Given the description of an element on the screen output the (x, y) to click on. 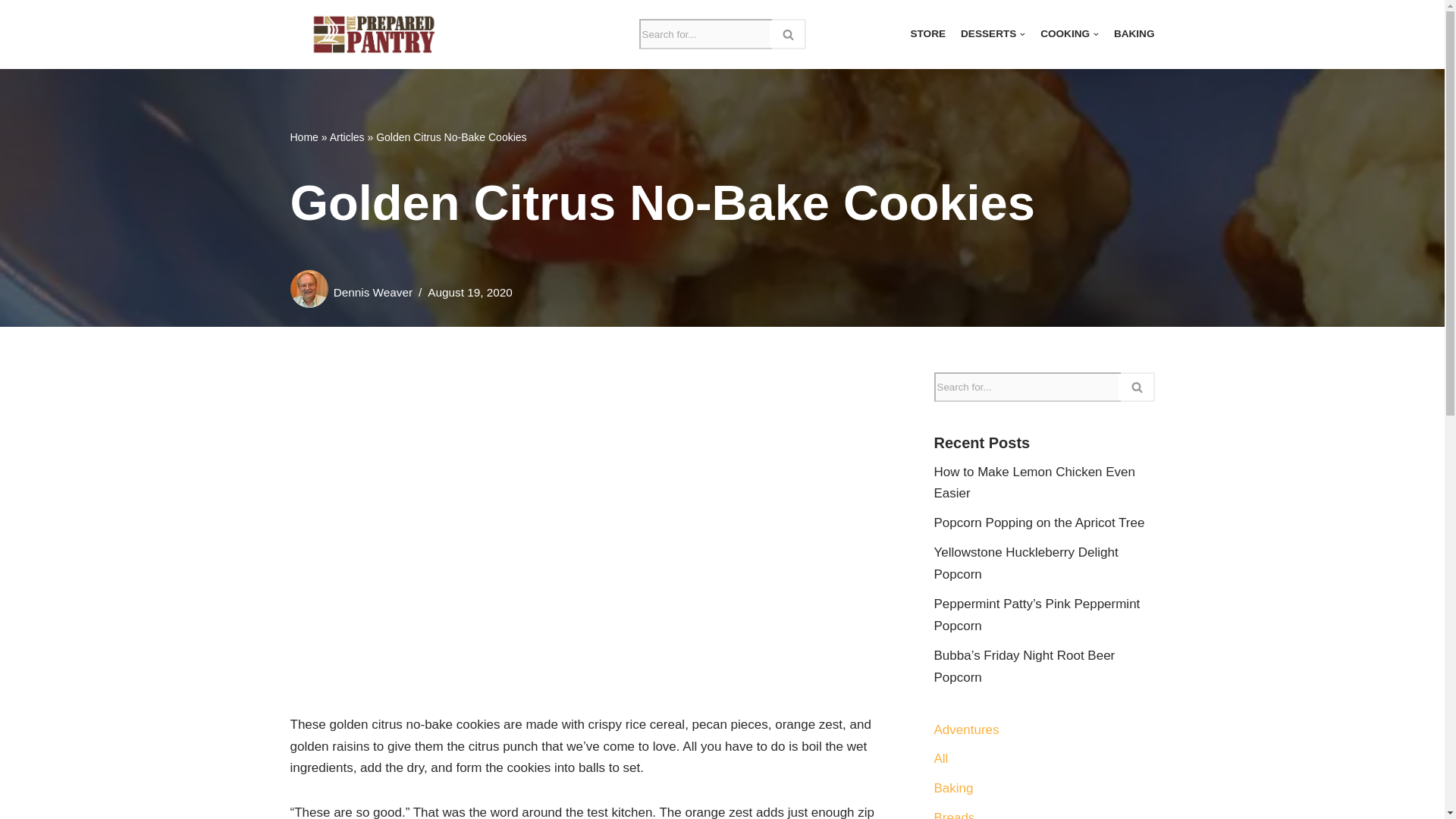
Articles (347, 137)
How to Make Lemon Chicken Even Easier (1034, 483)
Skip to content (11, 31)
DESSERTS (992, 34)
Posts by Dennis Weaver (372, 291)
Home (303, 137)
STORE (927, 34)
BAKING (1133, 34)
Dennis Weaver (372, 291)
COOKING (1070, 34)
